Given the description of an element on the screen output the (x, y) to click on. 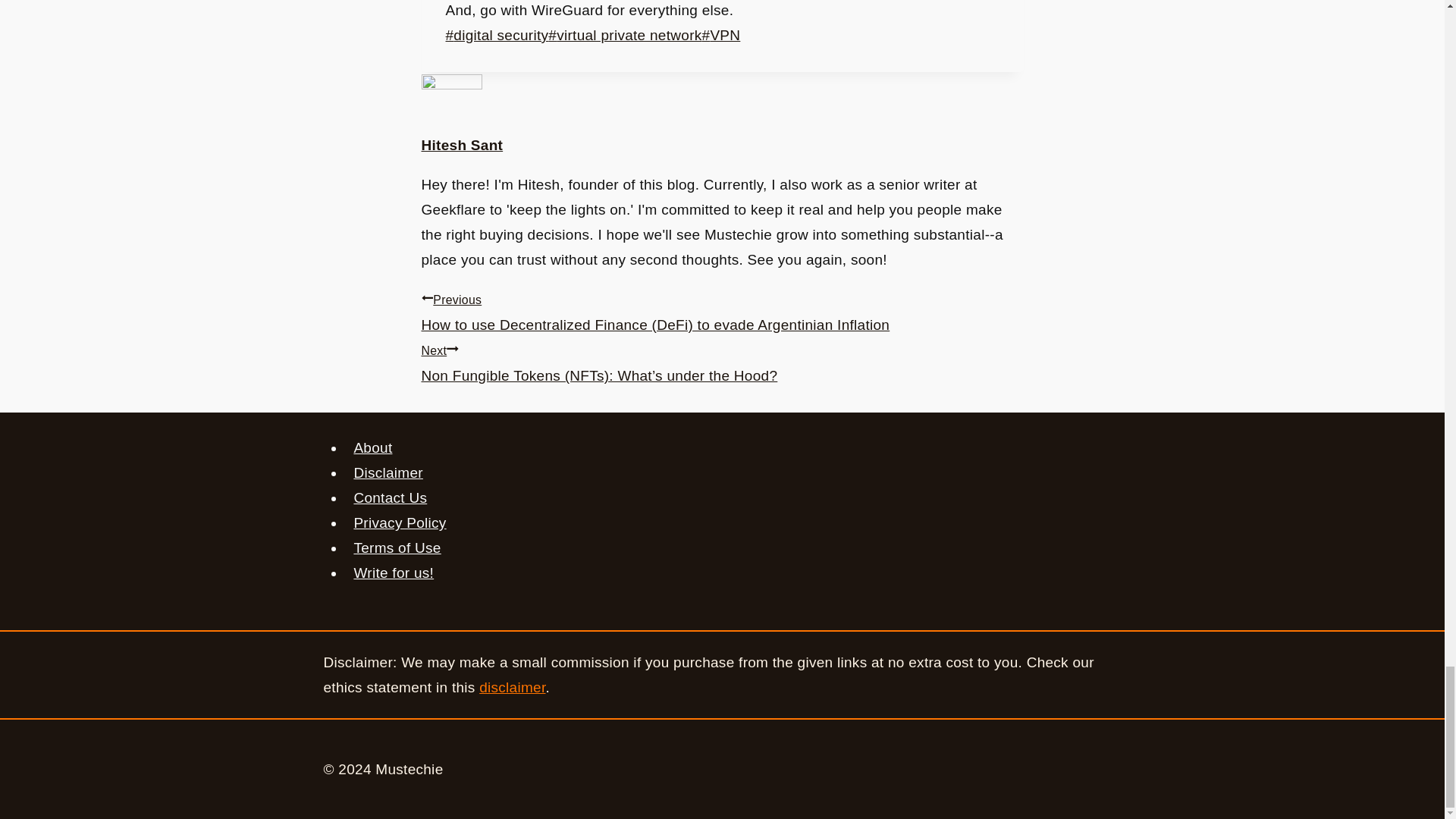
Contact Us (390, 497)
Terms of Use (397, 547)
Hitesh Sant (462, 145)
Privacy Policy (399, 522)
virtual private network (624, 35)
Posts by Hitesh Sant (462, 145)
About (373, 446)
VPN (721, 35)
Write for us! (393, 572)
digital security (496, 35)
disclaimer (511, 687)
Disclaimer (387, 472)
